Given the description of an element on the screen output the (x, y) to click on. 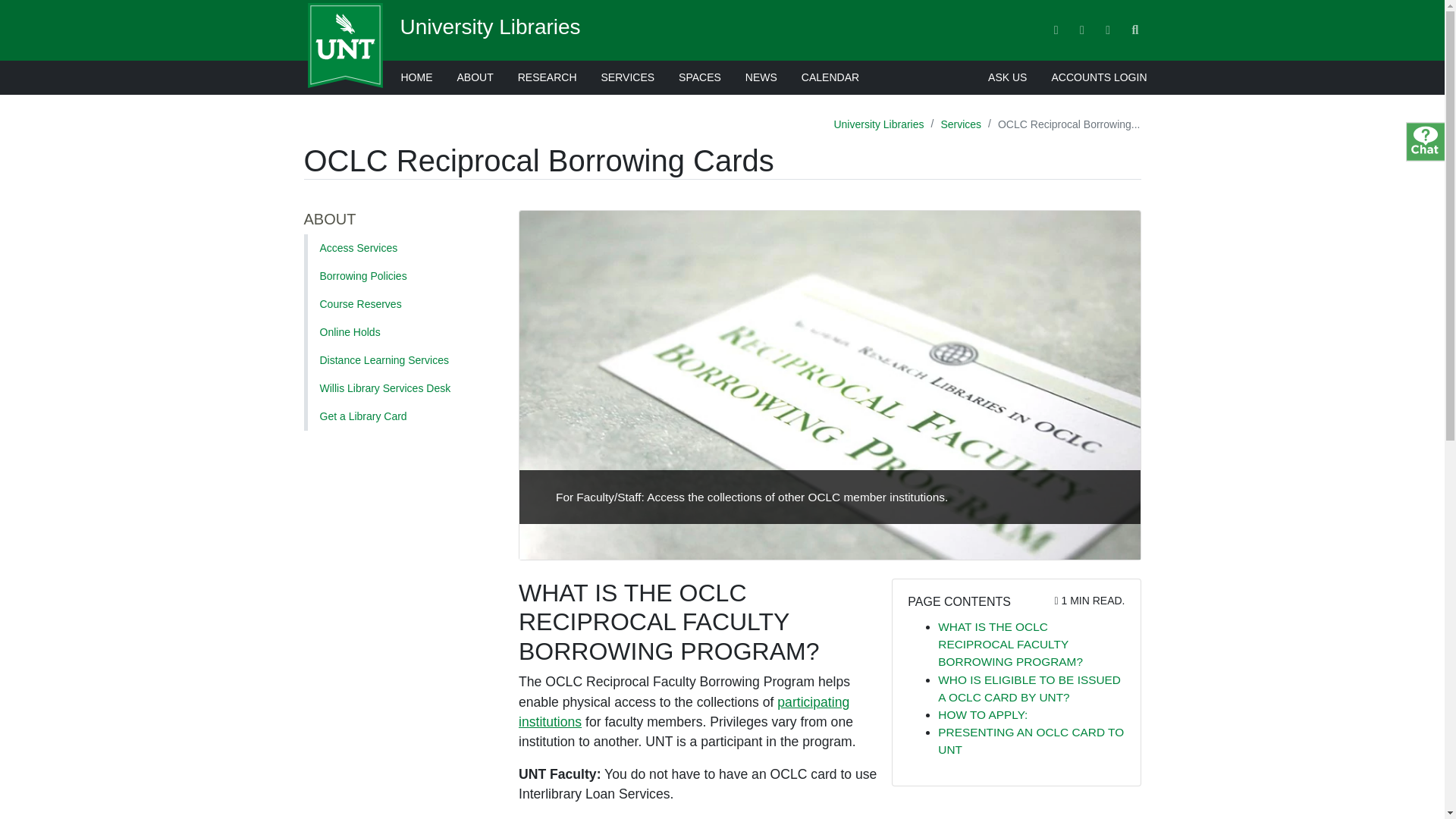
RESEARCH (547, 77)
ACCOUNTS LOGIN (1098, 77)
SERVICES (627, 77)
SPACES (699, 77)
CALENDAR (399, 304)
HOME (829, 77)
ASK US (416, 77)
University Libraries (399, 388)
University Libraries (1007, 77)
NEWS (878, 124)
HOW TO APPLY: (490, 26)
participating institutions (761, 77)
OCLC Reciprocal Borrowing... (982, 714)
